Given the description of an element on the screen output the (x, y) to click on. 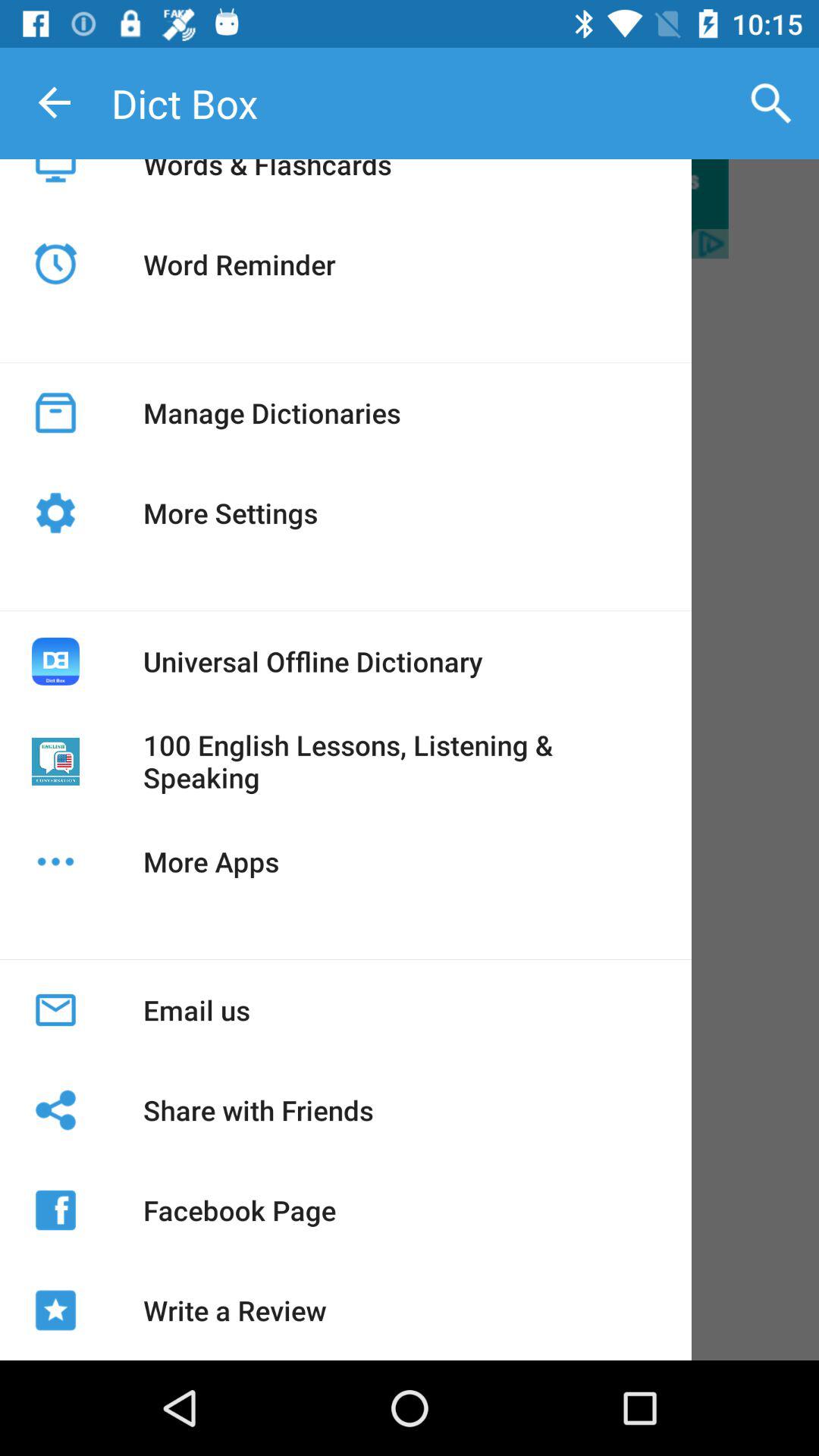
flip until the more settings icon (230, 512)
